Given the description of an element on the screen output the (x, y) to click on. 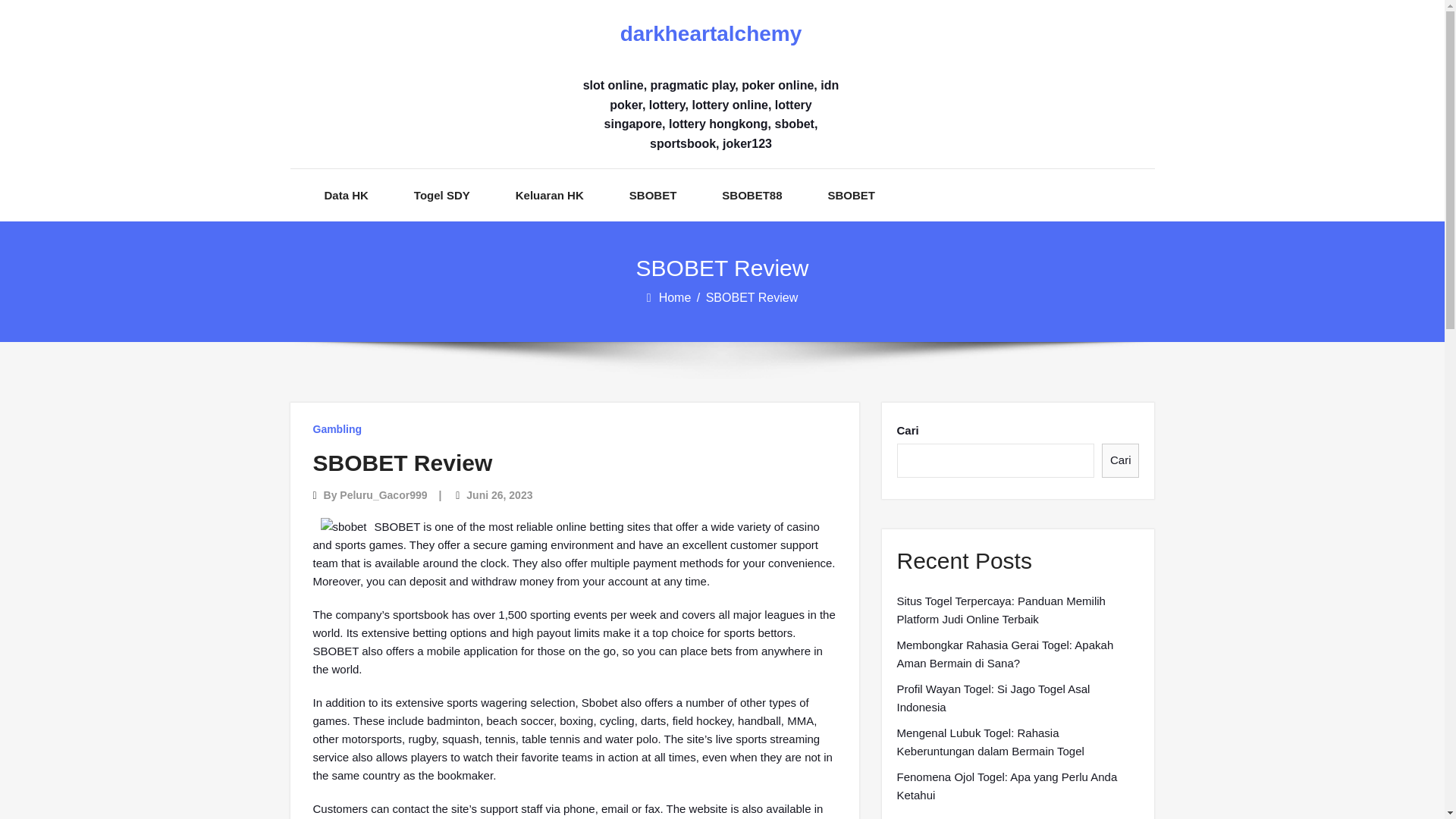
Home (676, 297)
SBOBET (652, 194)
Keluaran HK (549, 194)
darkheartalchemy (710, 34)
Cari (1121, 460)
SBOBET (852, 194)
Gambling (337, 428)
Fenomena Ojol Togel: Apa yang Perlu Anda Ketahui (1017, 786)
Togel SDY (441, 194)
SBOBET88 (751, 194)
Juni 26, 2023 (498, 494)
Membongkar Rahasia Gerai Togel: Apakah Aman Bermain di Sana? (1017, 654)
Profil Wayan Togel: Si Jago Togel Asal Indonesia (1017, 698)
